Given the description of an element on the screen output the (x, y) to click on. 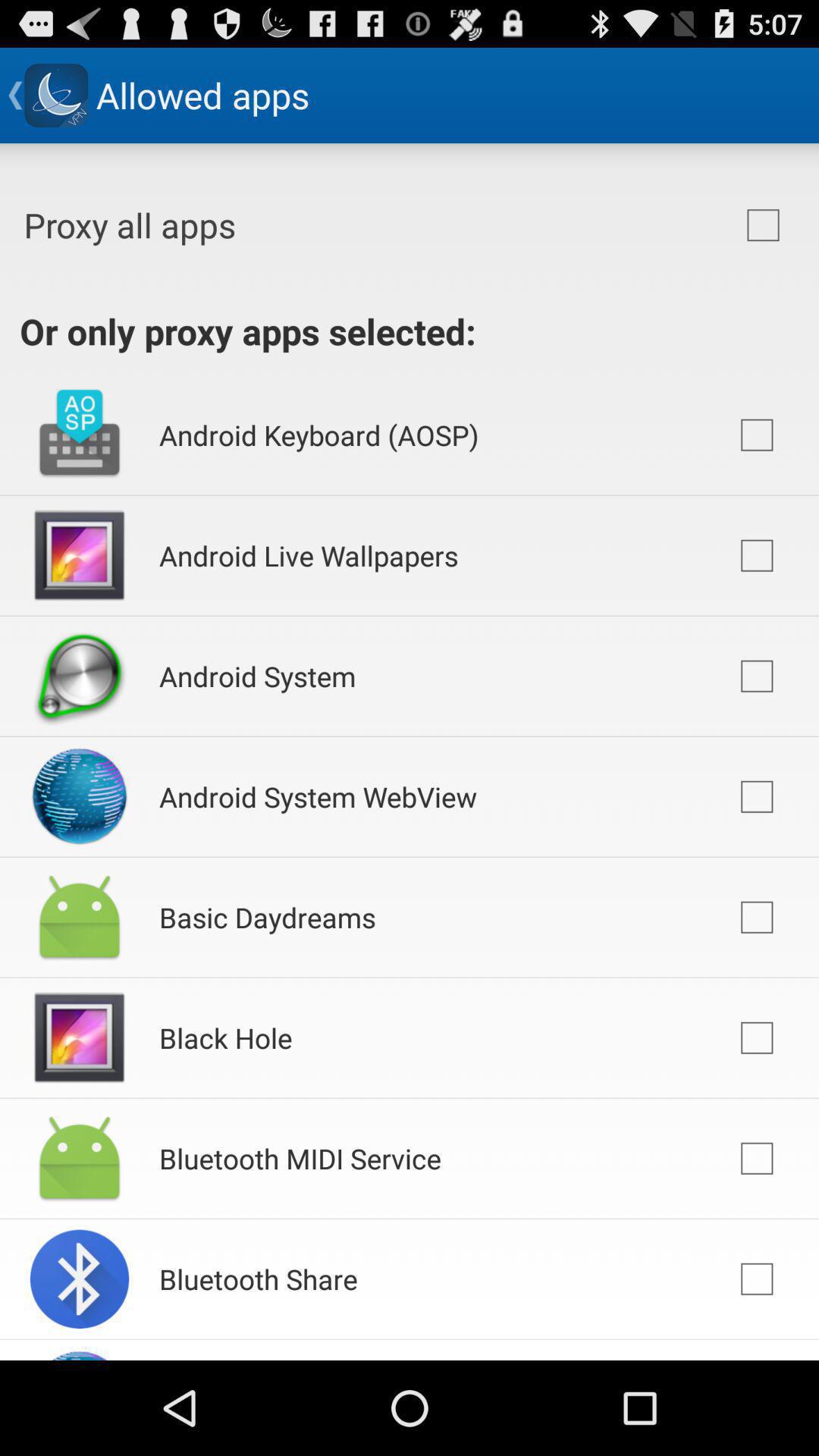
launch bluetooth midi service icon (300, 1158)
